Given the description of an element on the screen output the (x, y) to click on. 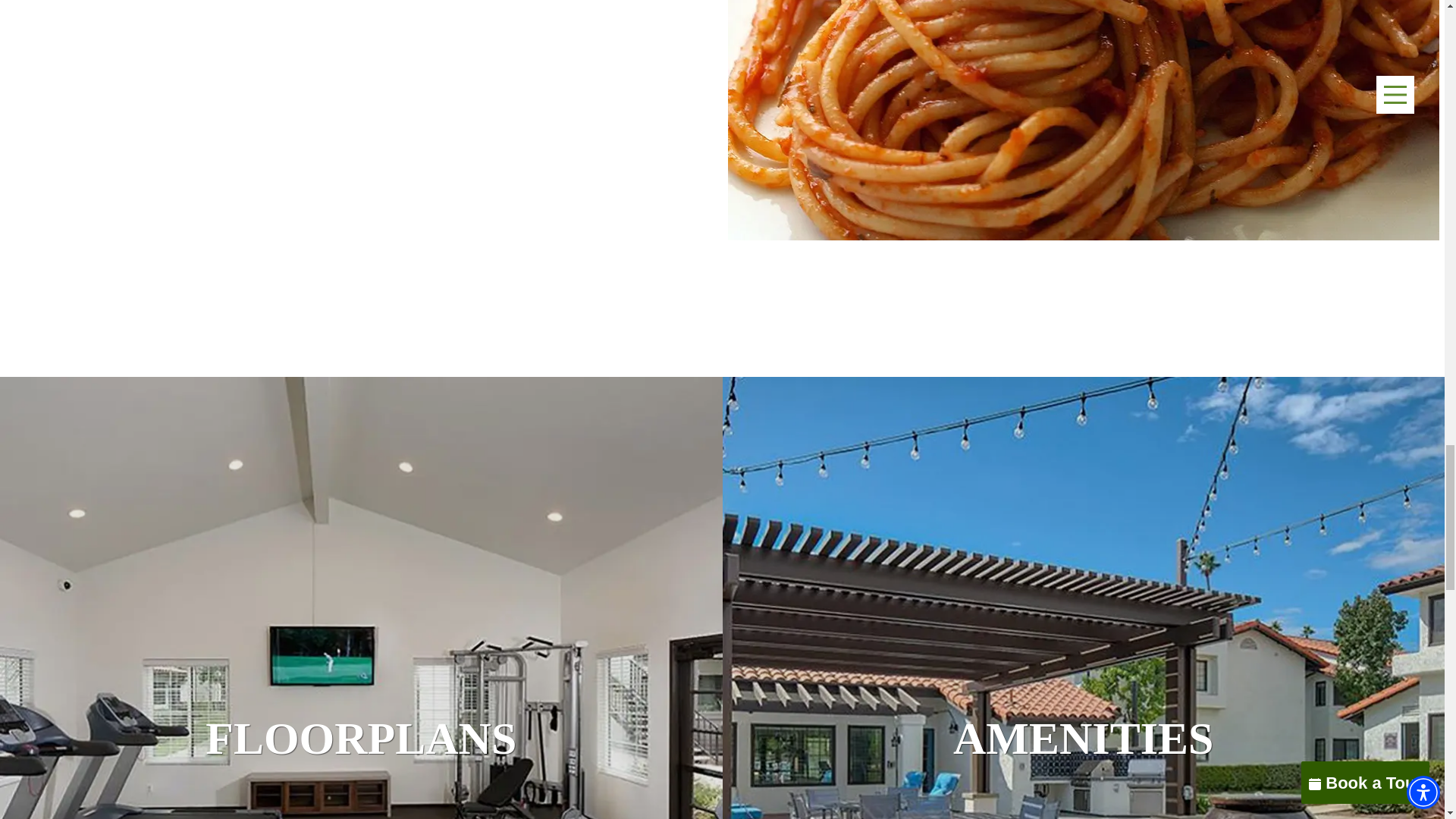
FLOORPLANS (361, 737)
